Given the description of an element on the screen output the (x, y) to click on. 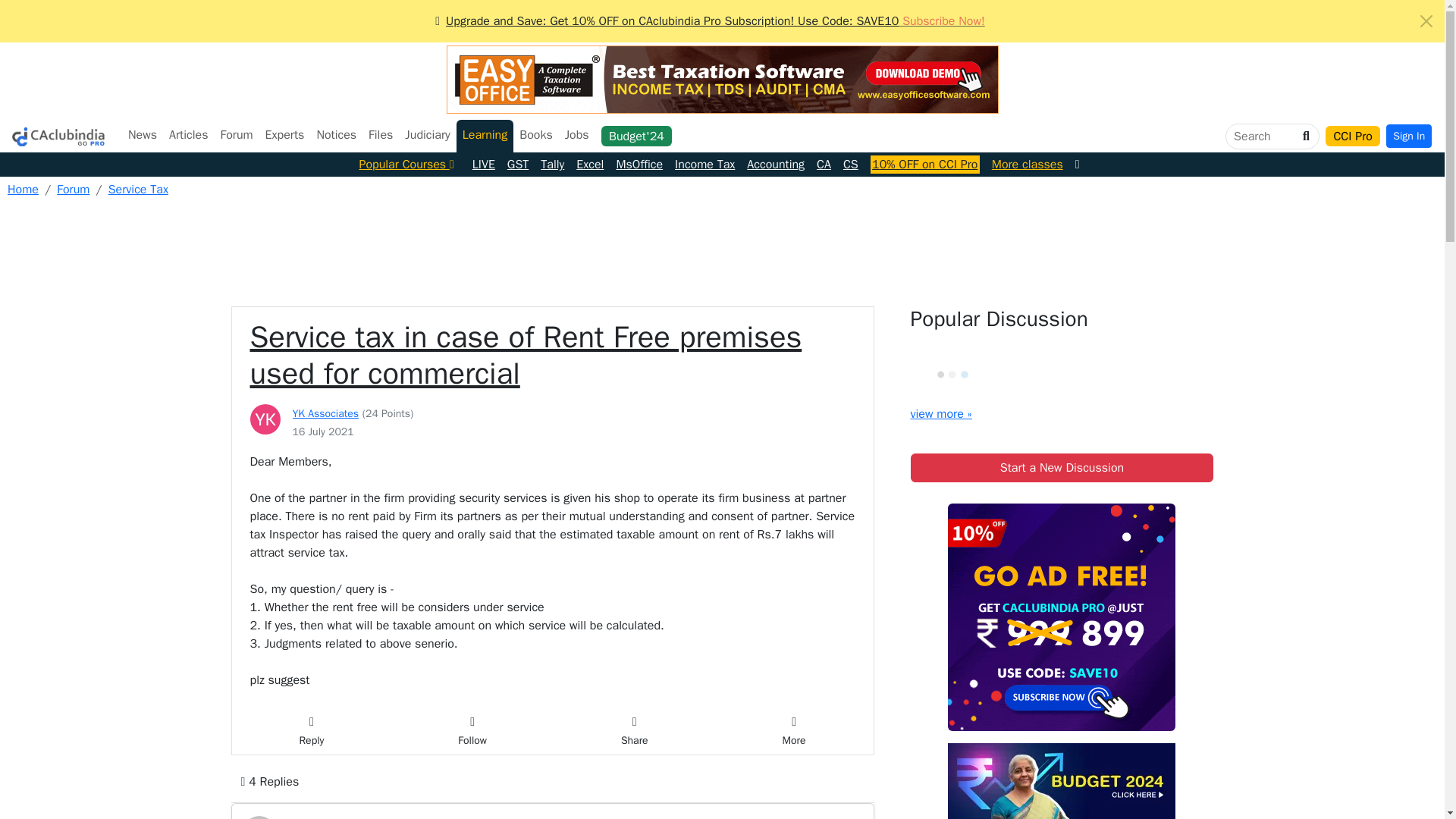
Replies (269, 781)
Follow Thread (472, 730)
Notices (336, 134)
Advertisement (722, 248)
Articles (188, 134)
Experts (285, 134)
Explore classes (1026, 164)
Service Tax (137, 189)
Forum (236, 134)
News (142, 134)
